Given the description of an element on the screen output the (x, y) to click on. 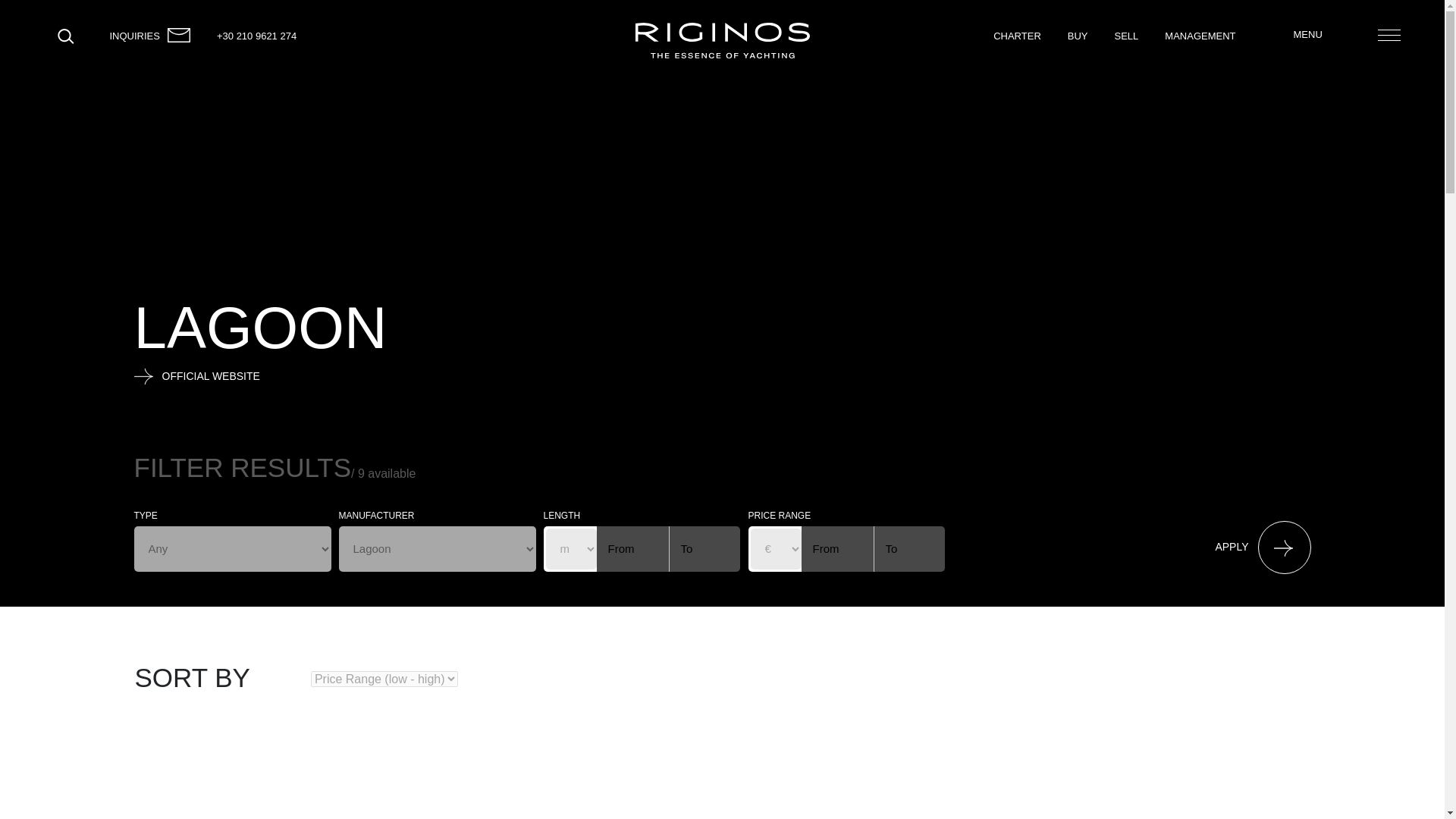
Apply (1249, 546)
CHARTER (1016, 35)
OFFICIAL WEBSITE (260, 376)
SELL (1126, 35)
INQUIRIES (133, 35)
MANAGEMENT (1199, 35)
Apply (1249, 546)
BUY (1077, 35)
